Given the description of an element on the screen output the (x, y) to click on. 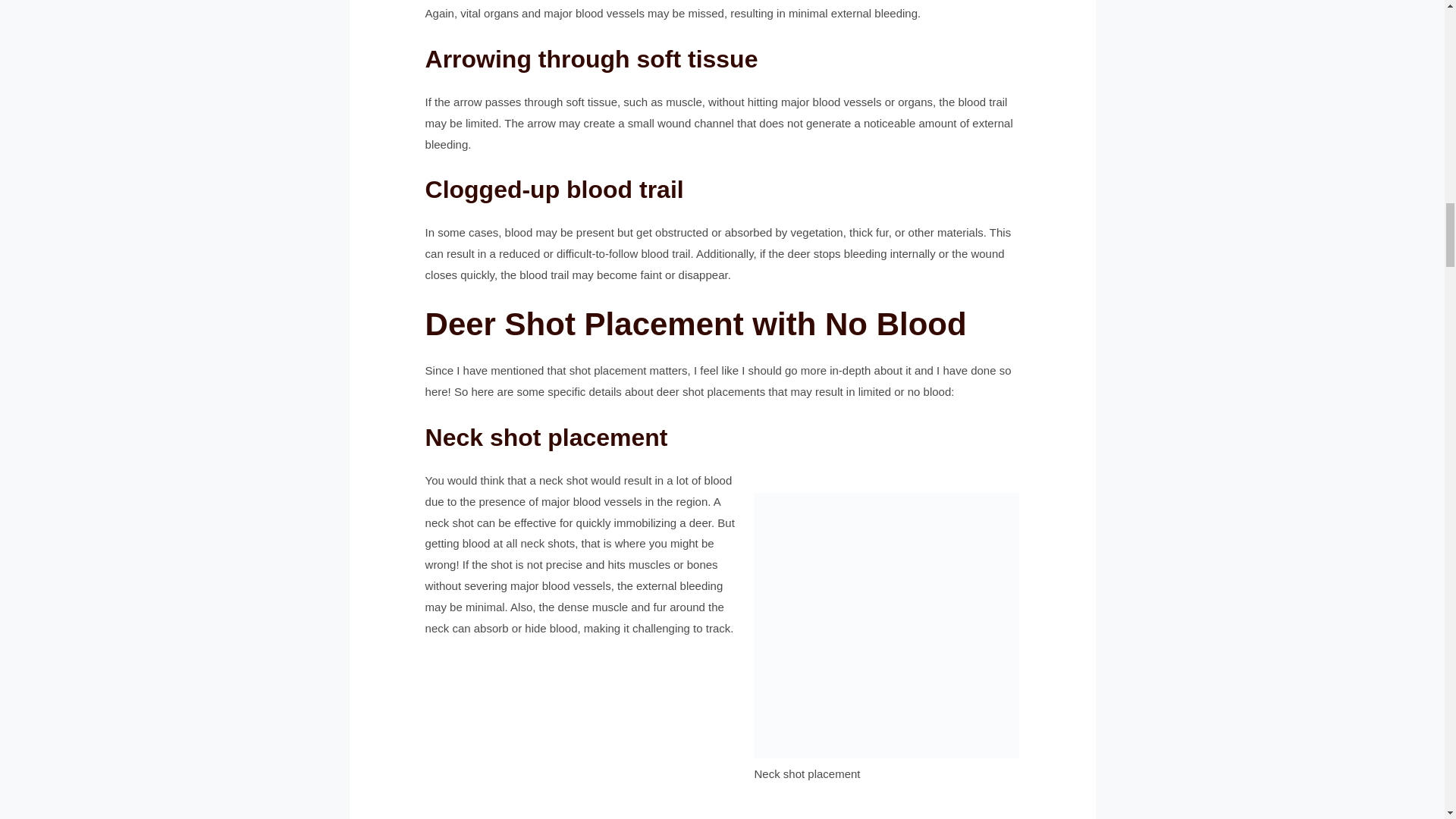
Arrow Stuck In Deer No Blood 4 (886, 625)
